Given the description of an element on the screen output the (x, y) to click on. 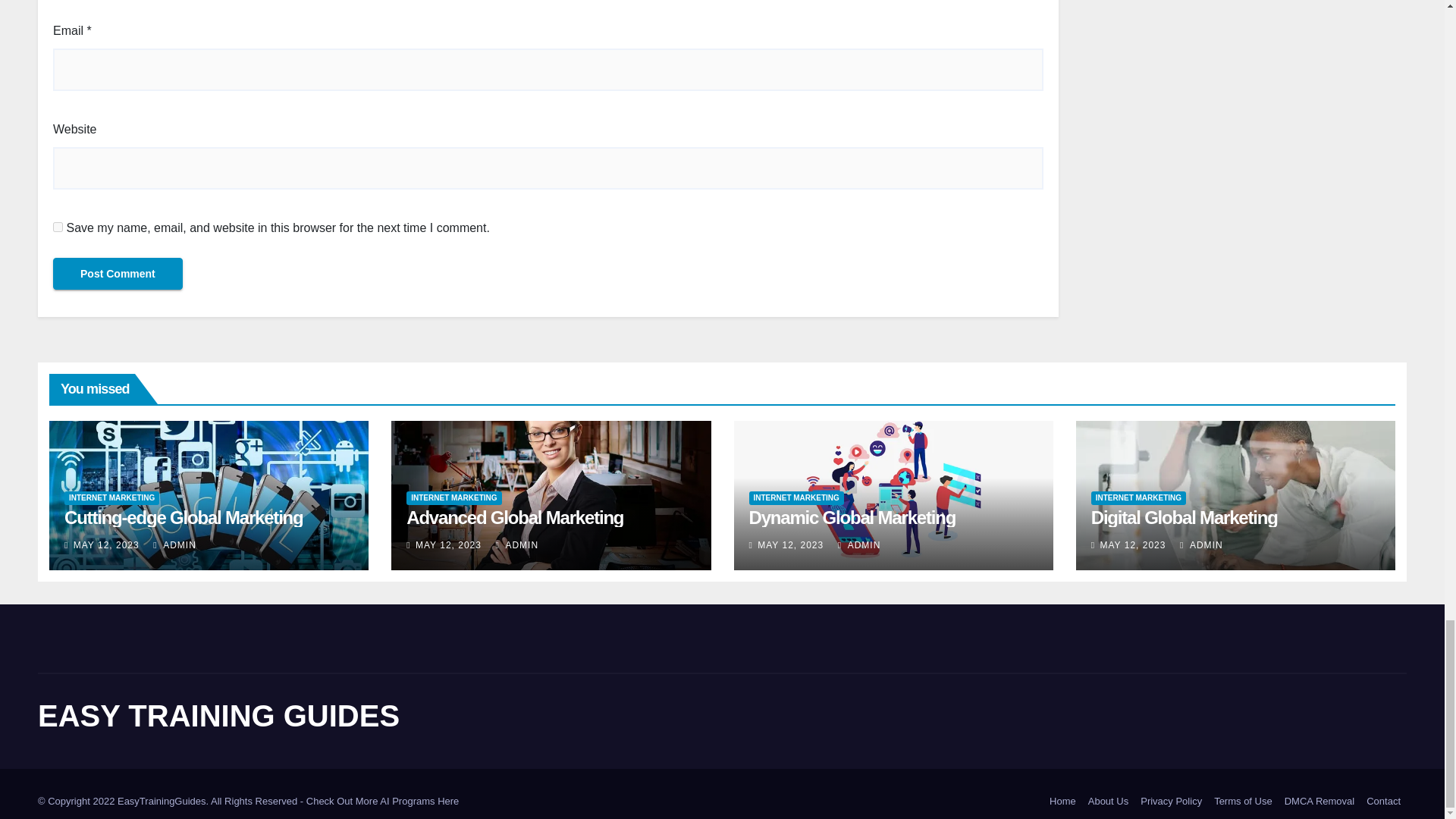
Permalink to: Dynamic Global Marketing (852, 516)
Permalink to: Cutting-edge Global Marketing (183, 516)
Permalink to: Digital Global Marketing (1184, 516)
yes (57, 226)
Post Comment (117, 273)
Home (1062, 800)
Permalink to: Advanced Global Marketing (514, 516)
